Given the description of an element on the screen output the (x, y) to click on. 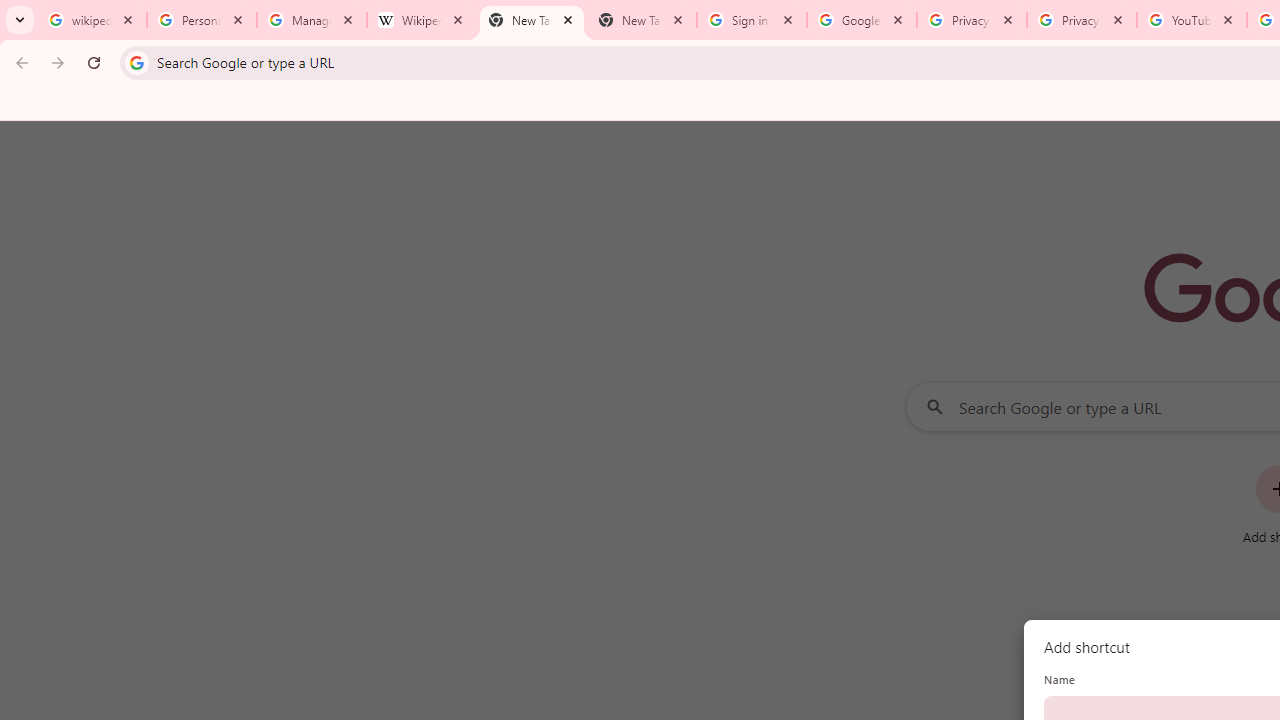
Wikipedia:Edit requests - Wikipedia (422, 20)
Manage your Location History - Google Search Help (312, 20)
